Given the description of an element on the screen output the (x, y) to click on. 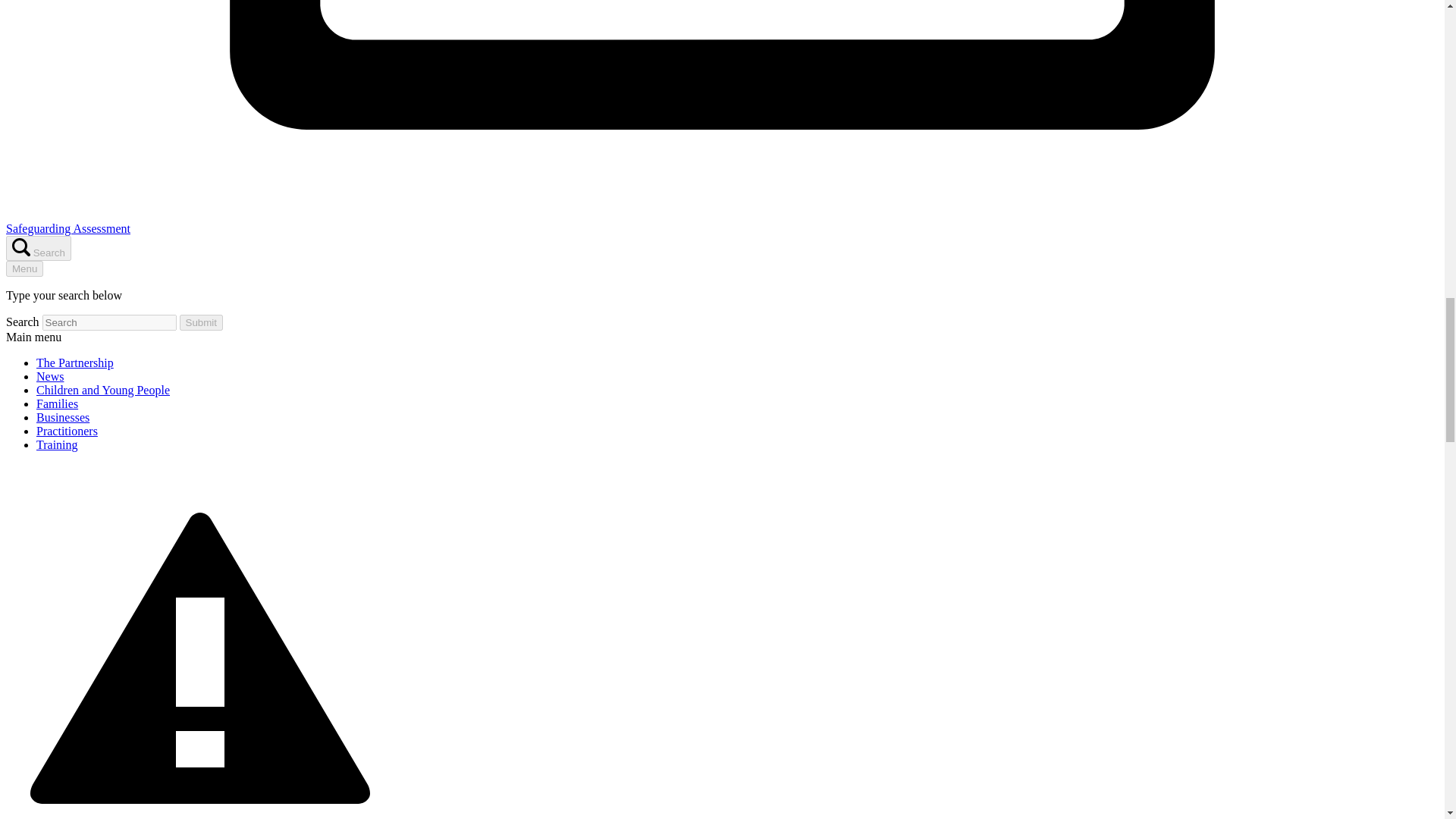
Submit (200, 322)
Search (38, 248)
Families (57, 403)
Menu (24, 268)
Practitioners (66, 431)
Training (57, 444)
Children and Young People (103, 390)
Submit (200, 322)
Businesses (62, 417)
The Partnership (74, 362)
